Given the description of an element on the screen output the (x, y) to click on. 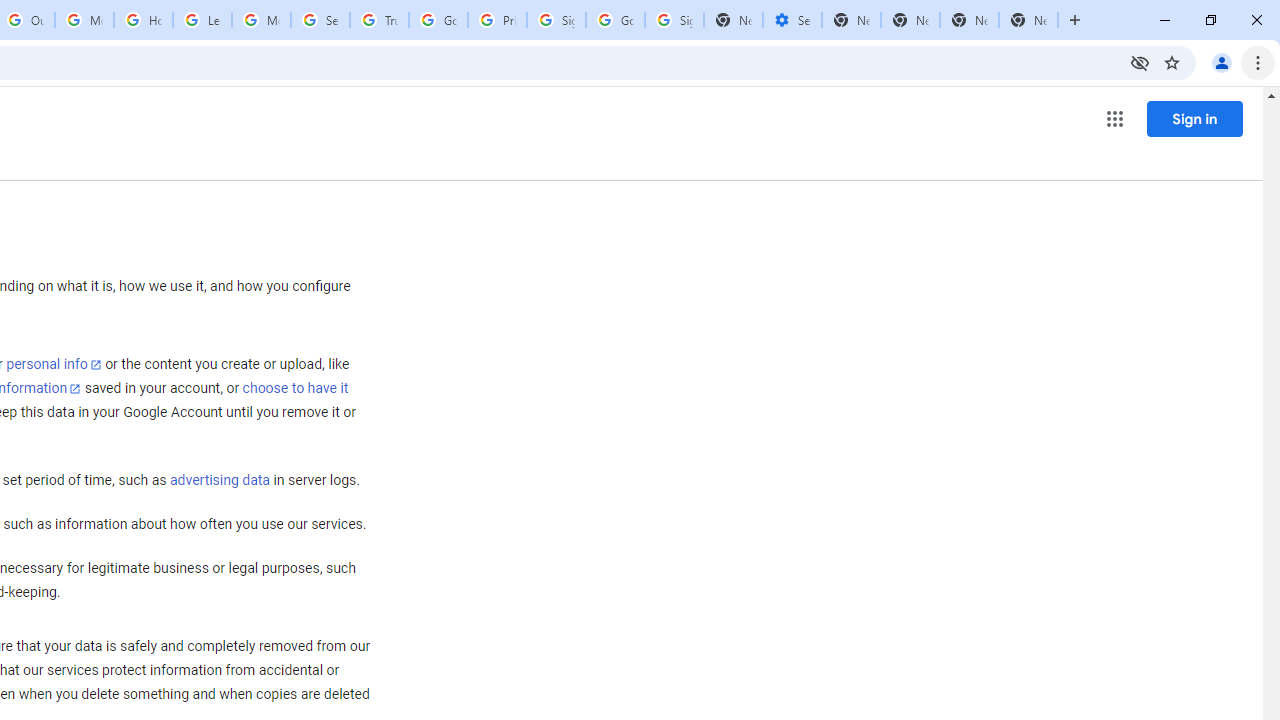
Settings - Performance (791, 20)
Google Ads - Sign in (438, 20)
Trusted Information and Content - Google Safety Center (379, 20)
advertising data (219, 481)
Sign in - Google Accounts (556, 20)
Search our Doodle Library Collection - Google Doodles (319, 20)
New Tab (1028, 20)
